Given the description of an element on the screen output the (x, y) to click on. 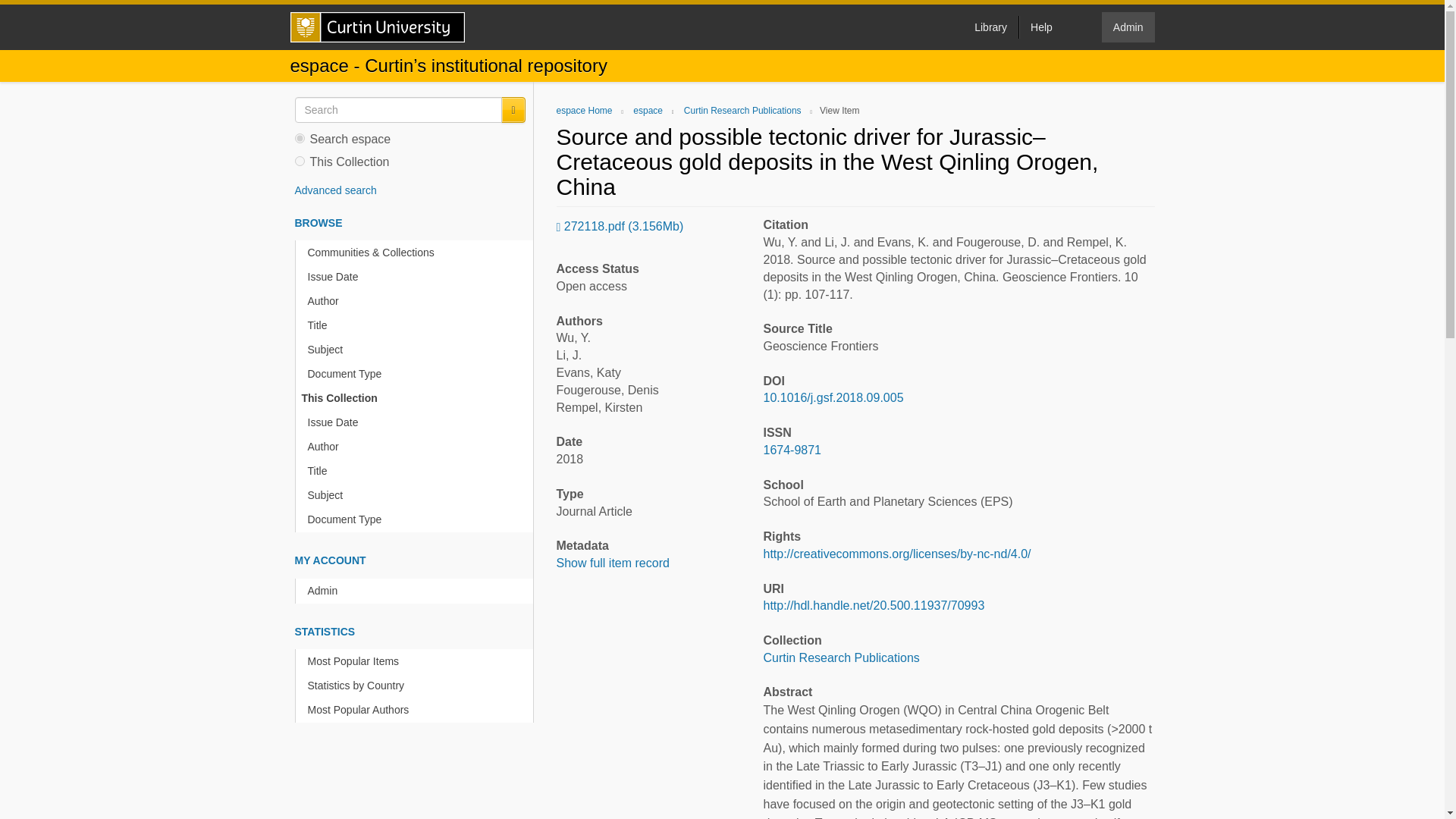
Go (512, 109)
Show full item record (612, 562)
Title (416, 471)
This Collection (413, 398)
Curtin Research Publications (743, 110)
Subject (416, 349)
espace Home (584, 110)
Author (416, 446)
espace (647, 110)
Library (989, 26)
